Given the description of an element on the screen output the (x, y) to click on. 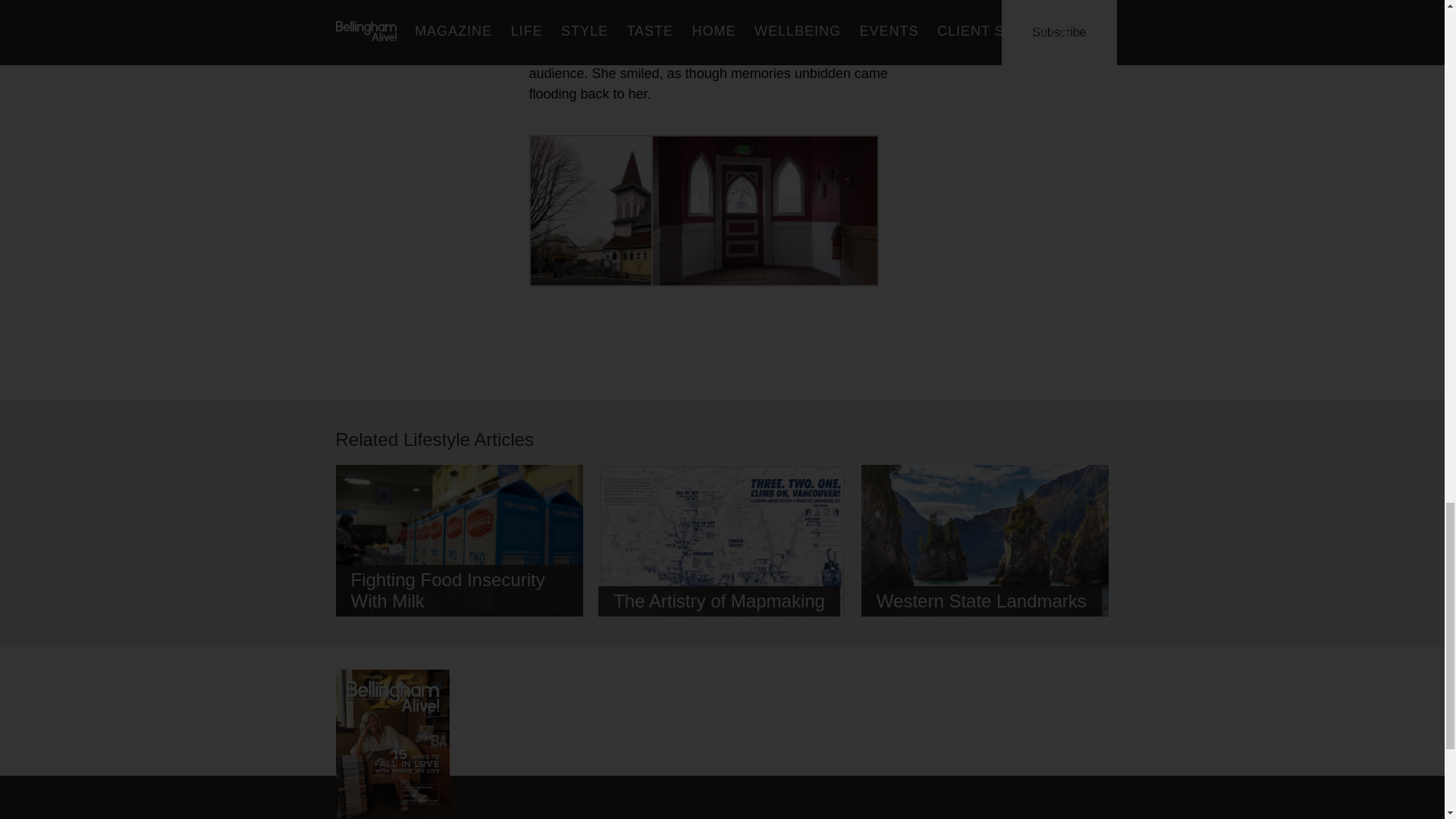
Western State Landmarks (985, 549)
The Artistry of Mapmaking (721, 544)
Fighting Food Insecurity With Milk (458, 549)
